Given the description of an element on the screen output the (x, y) to click on. 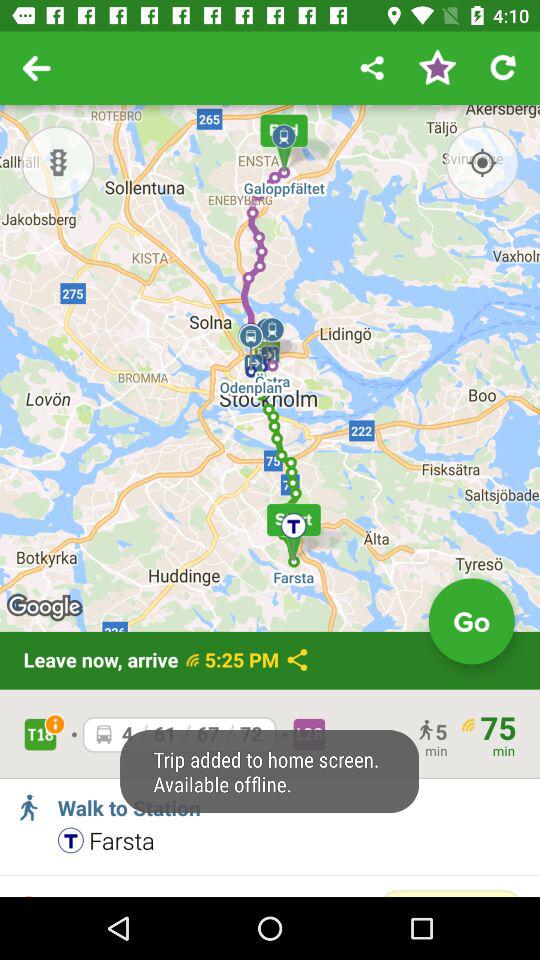
center map to current location (482, 162)
